Given the description of an element on the screen output the (x, y) to click on. 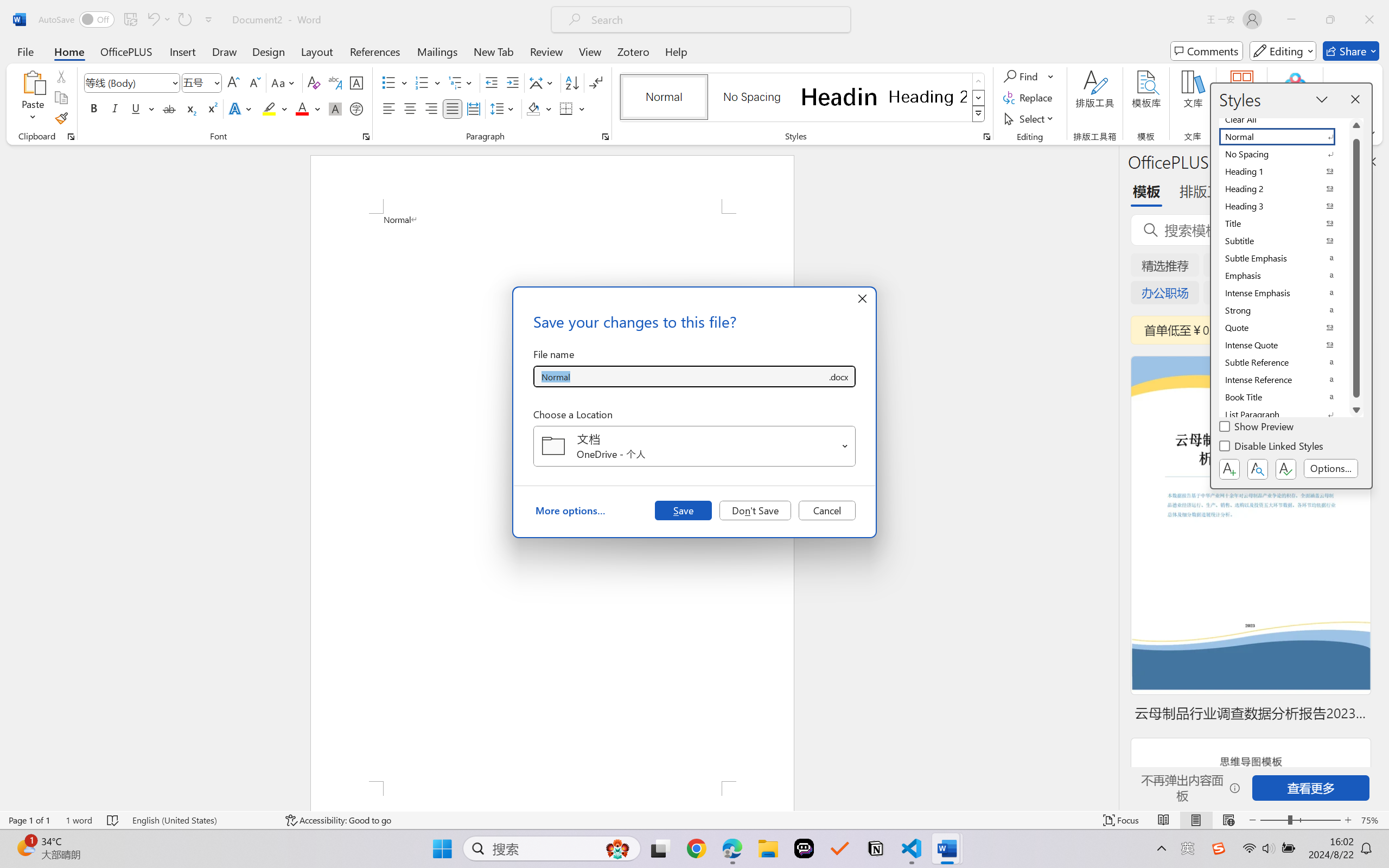
Enclose Characters... (356, 108)
Title (1283, 223)
Font Color (308, 108)
Replace... (1029, 97)
More Options (1051, 75)
Grow Font (233, 82)
Emphasis (1283, 275)
Underline (142, 108)
Bold (94, 108)
